Given the description of an element on the screen output the (x, y) to click on. 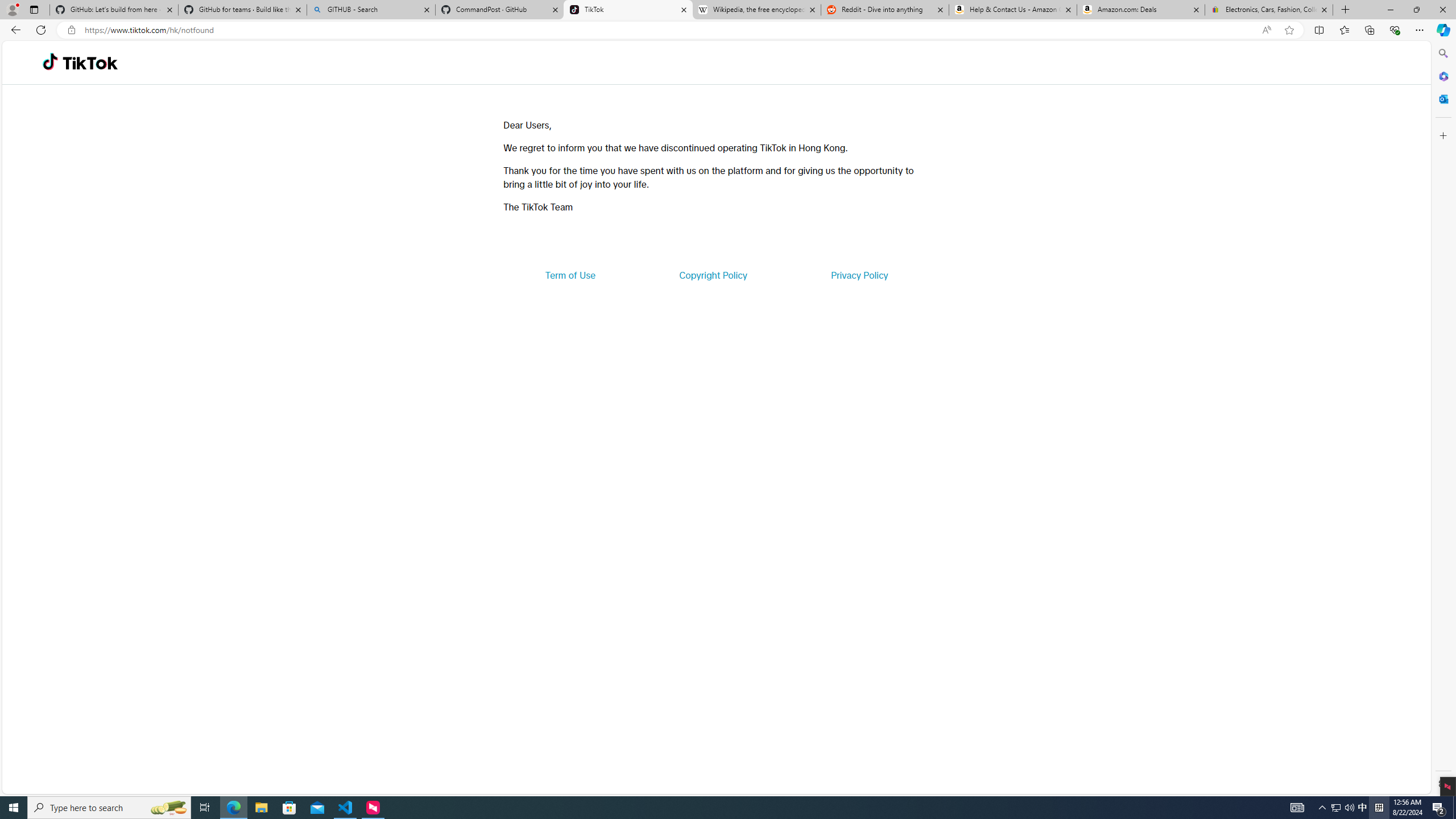
Privacy Policy (858, 274)
Copyright Policy (712, 274)
GITHUB - Search (370, 9)
Amazon.com: Deals (1140, 9)
